Given the description of an element on the screen output the (x, y) to click on. 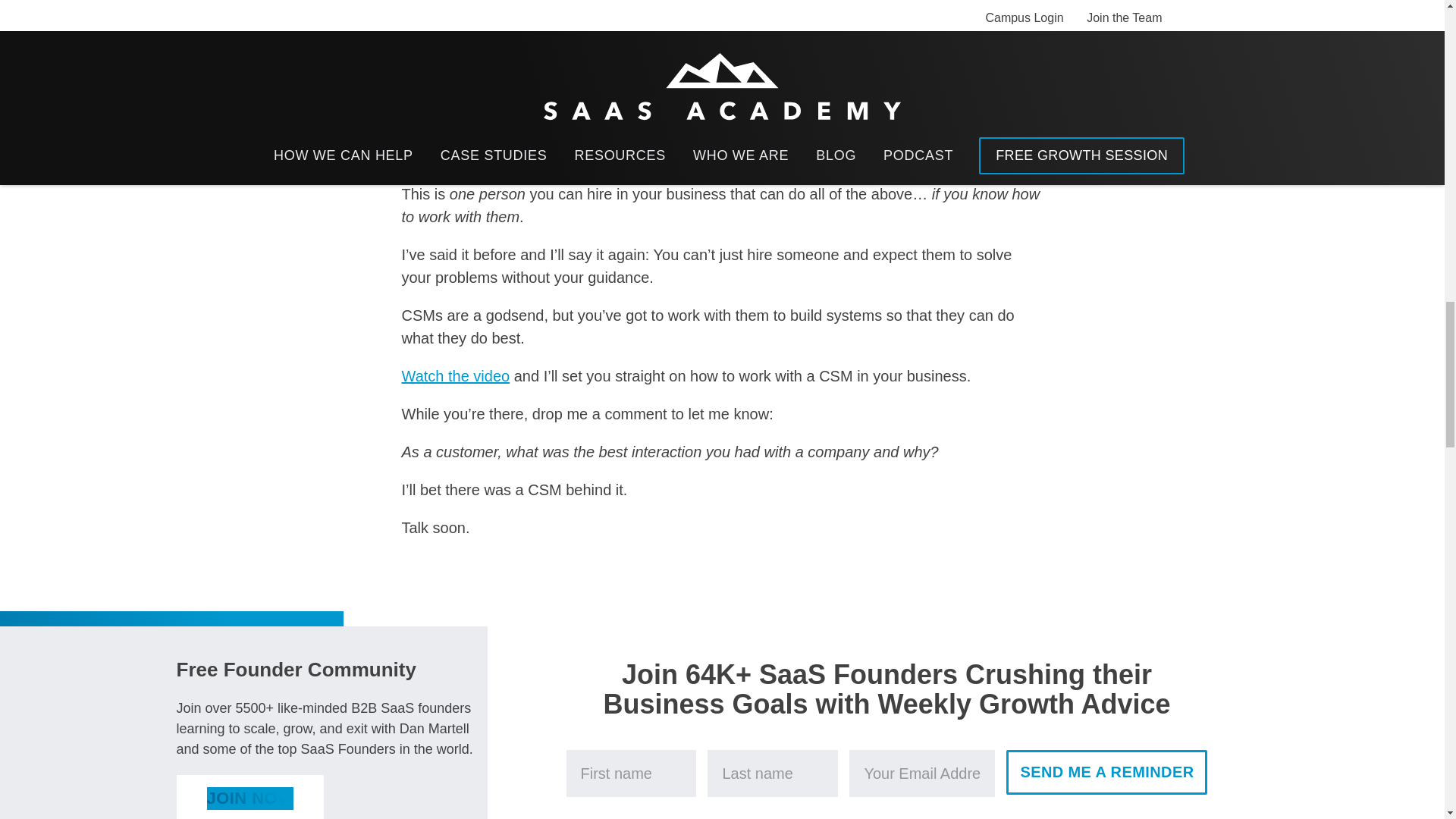
send me a reminder (1106, 772)
send me a reminder (1106, 772)
Watch the video (456, 375)
case studies (612, 72)
JOIN NOW (249, 796)
Join Now (249, 796)
